Given the description of an element on the screen output the (x, y) to click on. 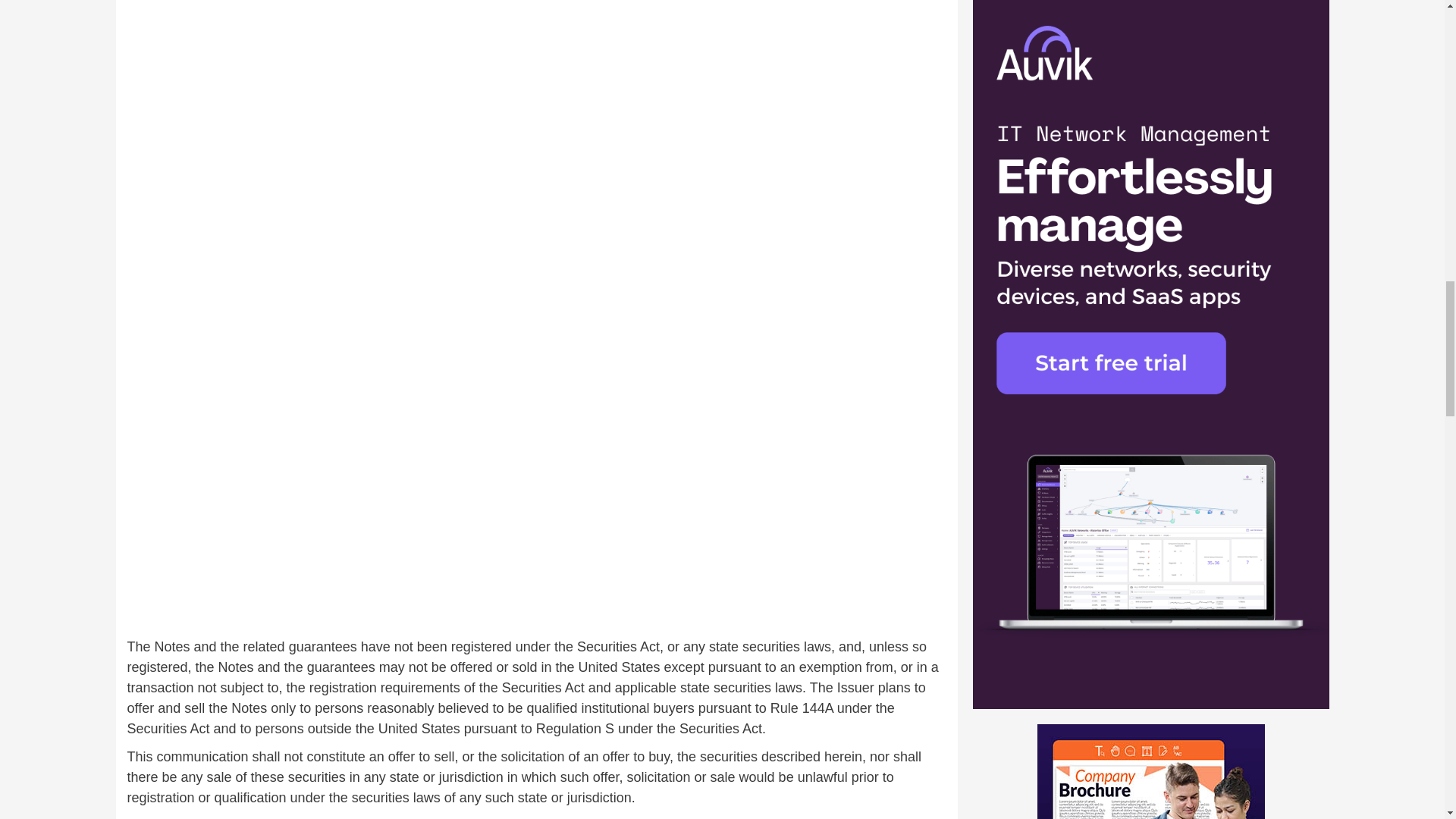
Search (1276, 206)
Search (1276, 206)
